Given the description of an element on the screen output the (x, y) to click on. 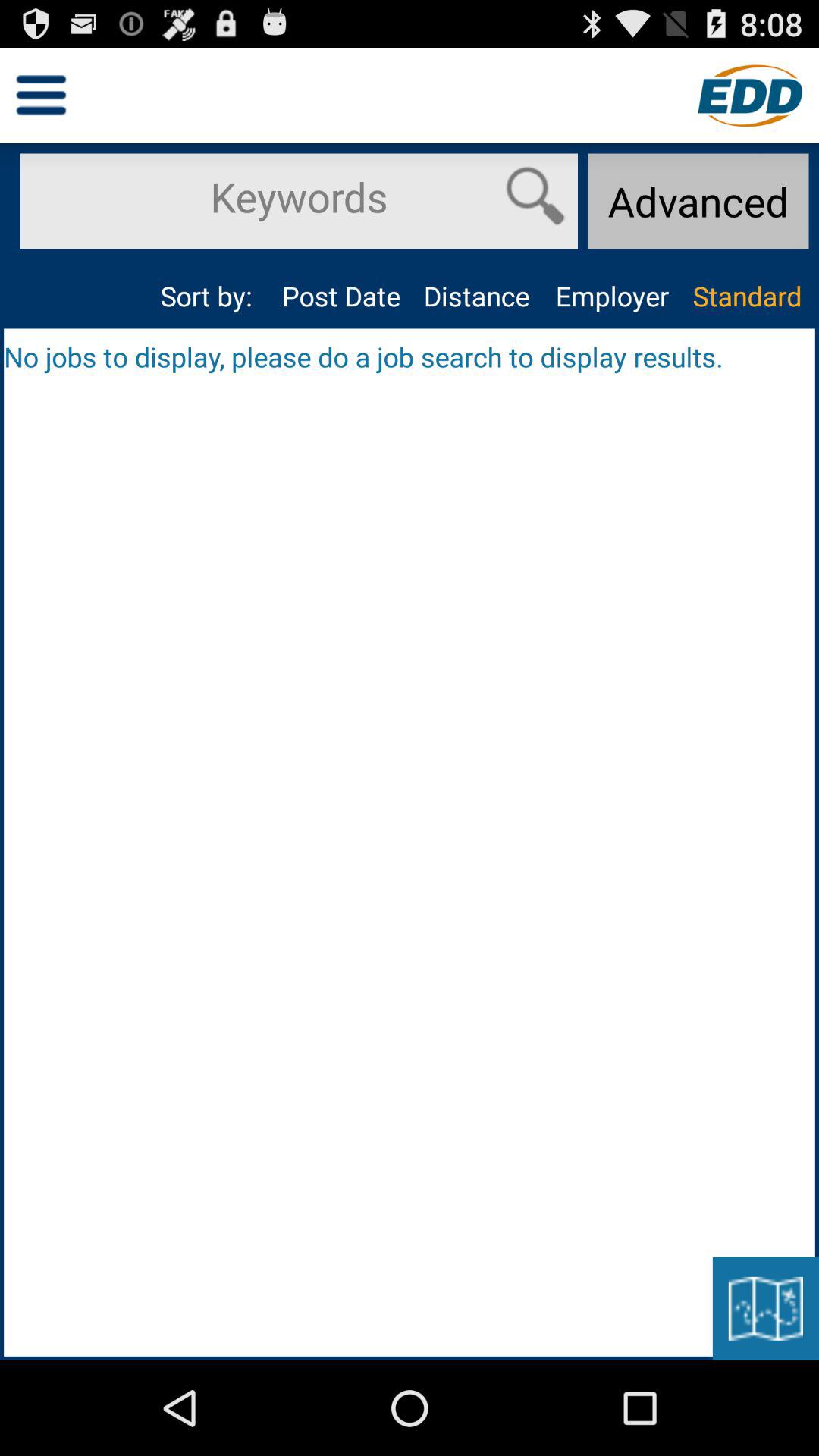
select app to the right of the post date icon (476, 295)
